Given the description of an element on the screen output the (x, y) to click on. 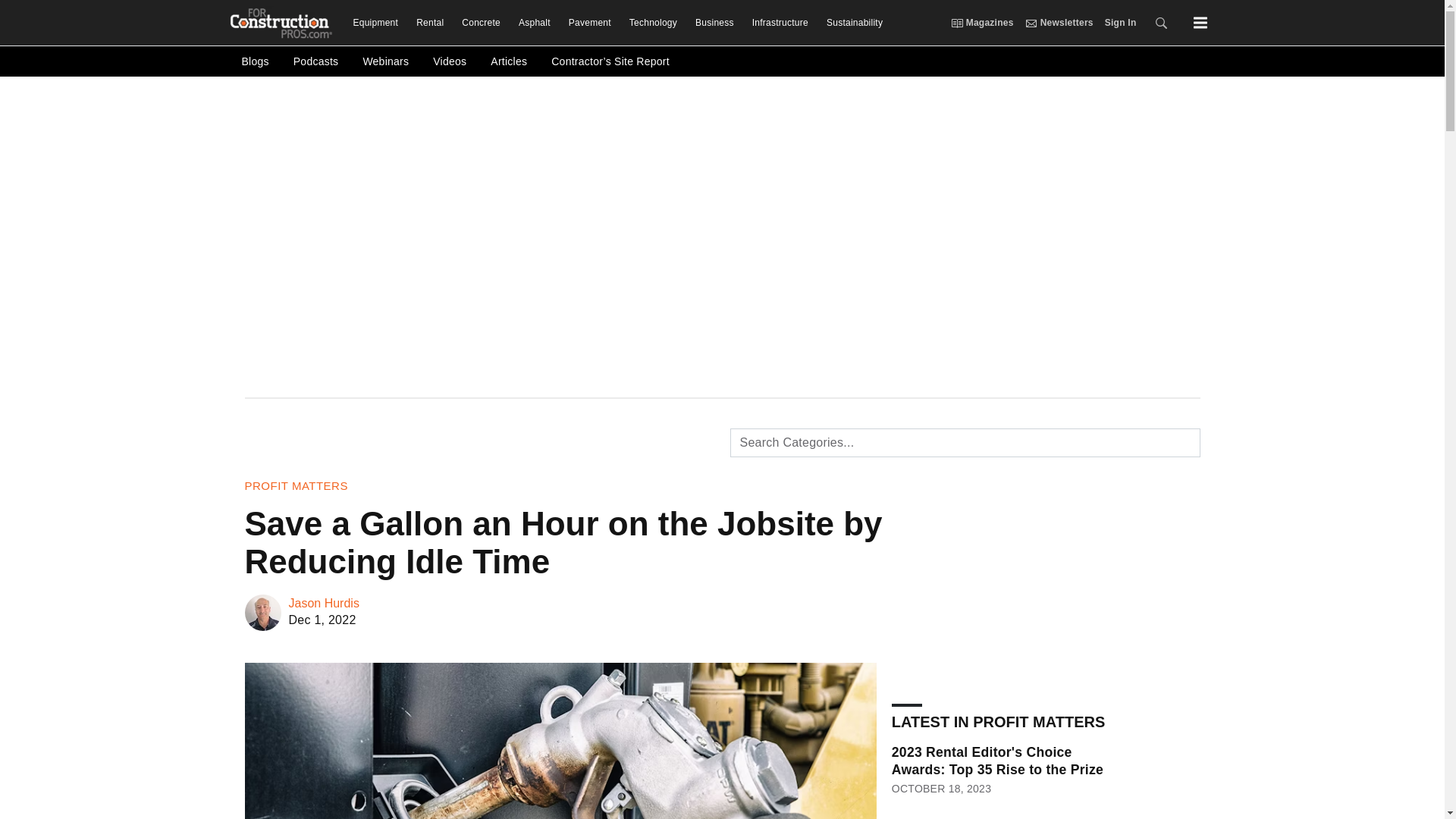
Sustainability (849, 22)
Sign In (1115, 22)
Equipment (375, 22)
Webinars (385, 61)
Business (713, 22)
Concrete (480, 22)
Newsletters (1030, 22)
Magazines (981, 22)
Magazines (956, 22)
Rental (429, 22)
